Given the description of an element on the screen output the (x, y) to click on. 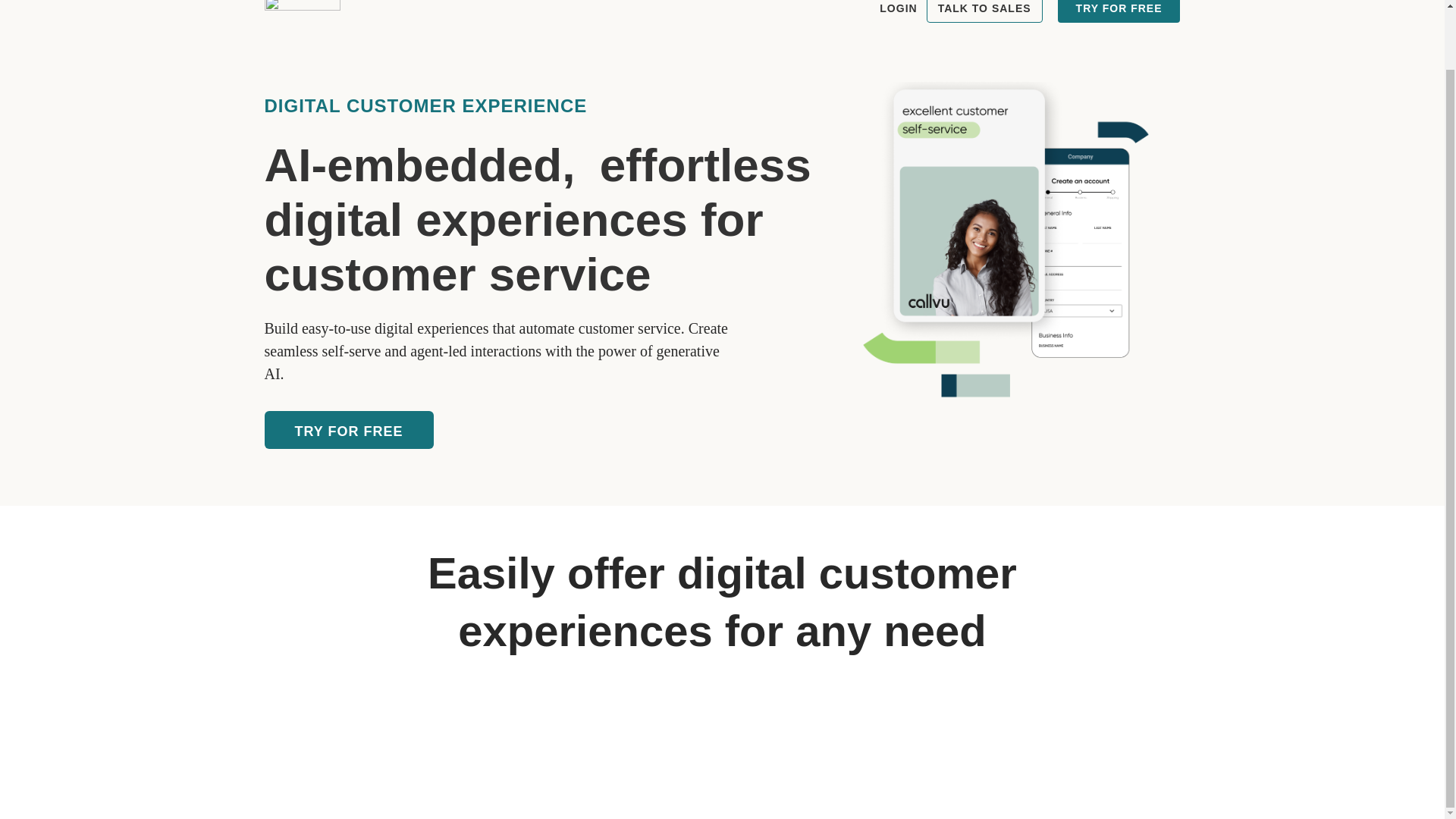
TALK TO SALES (984, 11)
TRY FOR FREE (347, 429)
LOGIN (898, 11)
TRY FOR FREE (1119, 11)
